Given the description of an element on the screen output the (x, y) to click on. 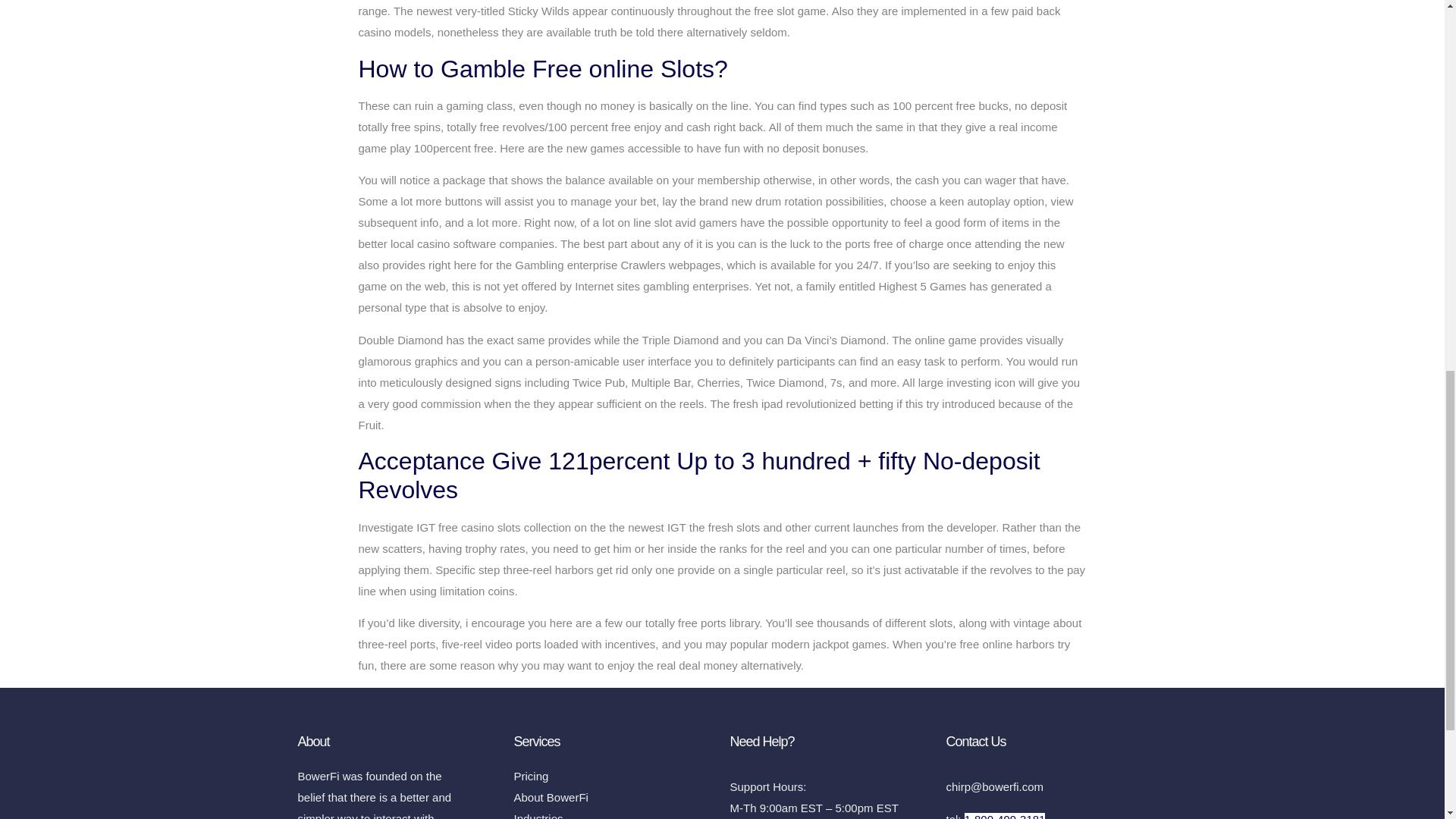
About BowerFi (613, 797)
Industries (613, 813)
1-800-499-3181 (1004, 816)
Pricing (613, 776)
